Given the description of an element on the screen output the (x, y) to click on. 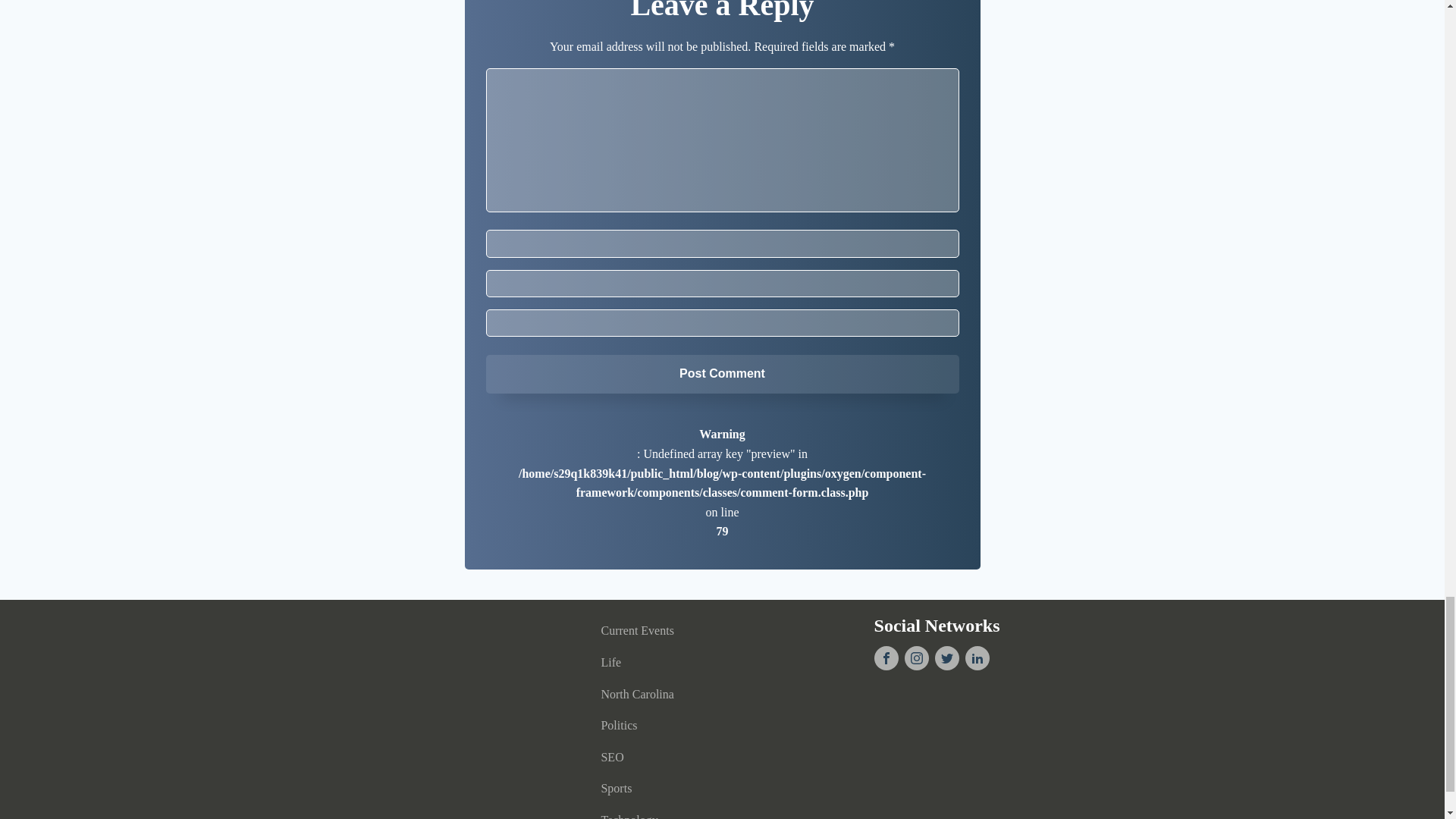
Current Events (657, 631)
Life (657, 662)
Post Comment (721, 373)
Technology (657, 811)
Sports (657, 788)
Politics (657, 726)
Post Comment (721, 373)
North Carolina (657, 694)
SEO (657, 757)
